Given the description of an element on the screen output the (x, y) to click on. 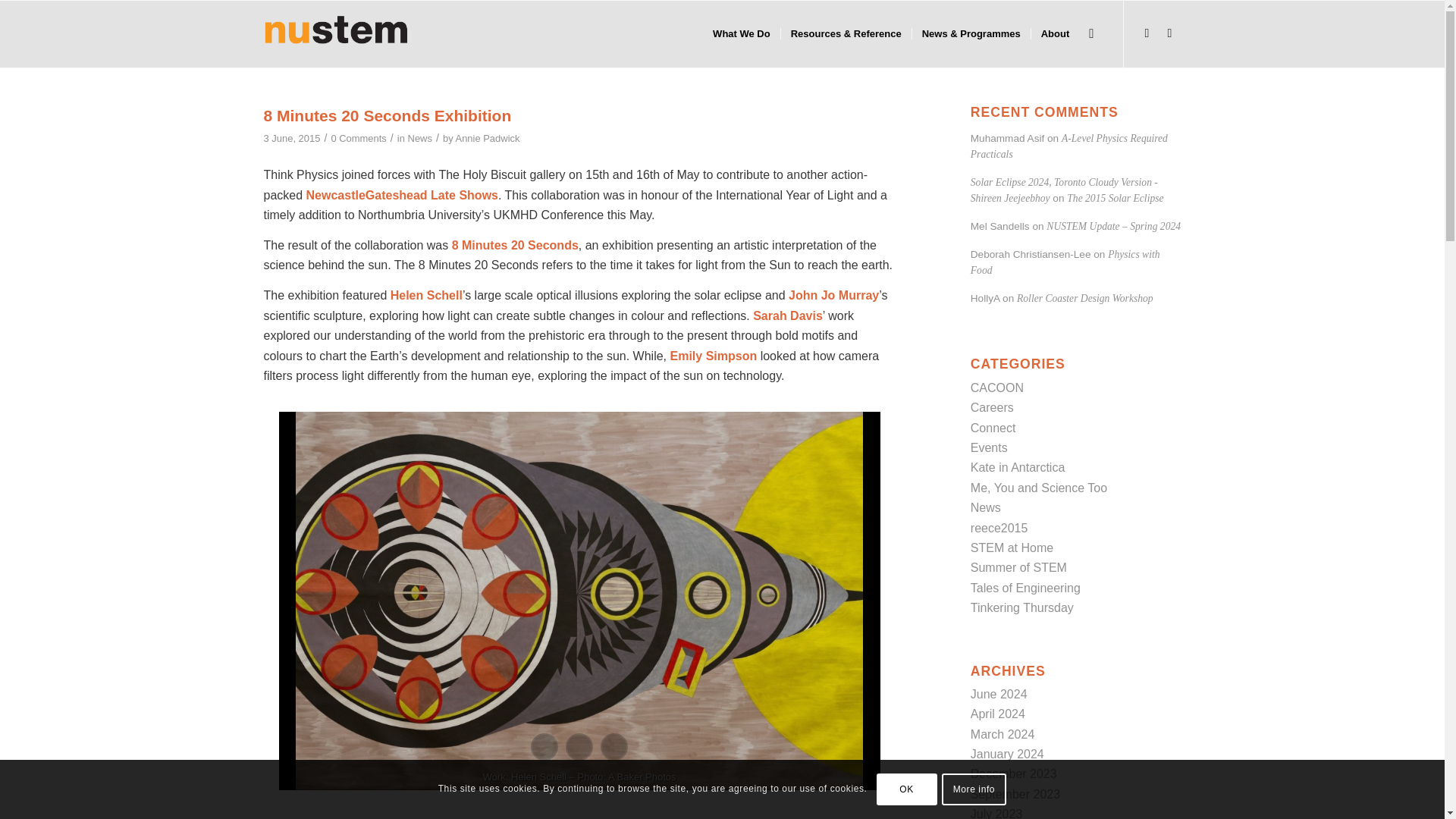
X (1146, 33)
Facebook (1169, 33)
Posts by Annie Padwick (486, 138)
logo-banner (336, 33)
Permanent Link: 8 Minutes 20 Seconds Exhibition (387, 115)
What We Do (741, 33)
